Given the description of an element on the screen output the (x, y) to click on. 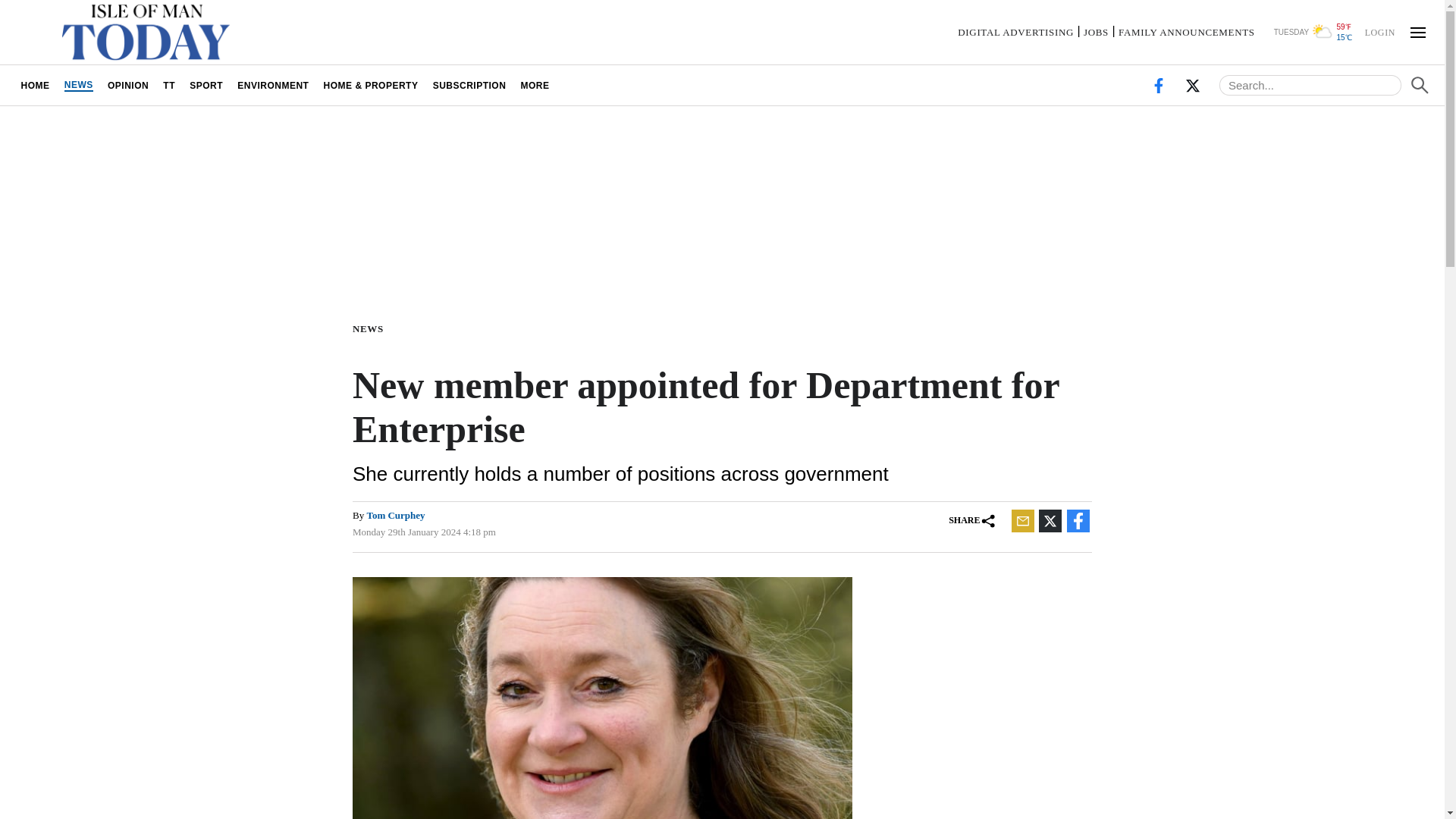
SPORT (206, 85)
OPINION (127, 85)
NEWS (371, 328)
ENVIRONMENT (272, 85)
MORE (534, 85)
FAMILY ANNOUNCEMENTS (1186, 32)
NEWS (78, 85)
LOGIN (1379, 31)
SUBSCRIPTION (469, 85)
HOME (34, 85)
